Given the description of an element on the screen output the (x, y) to click on. 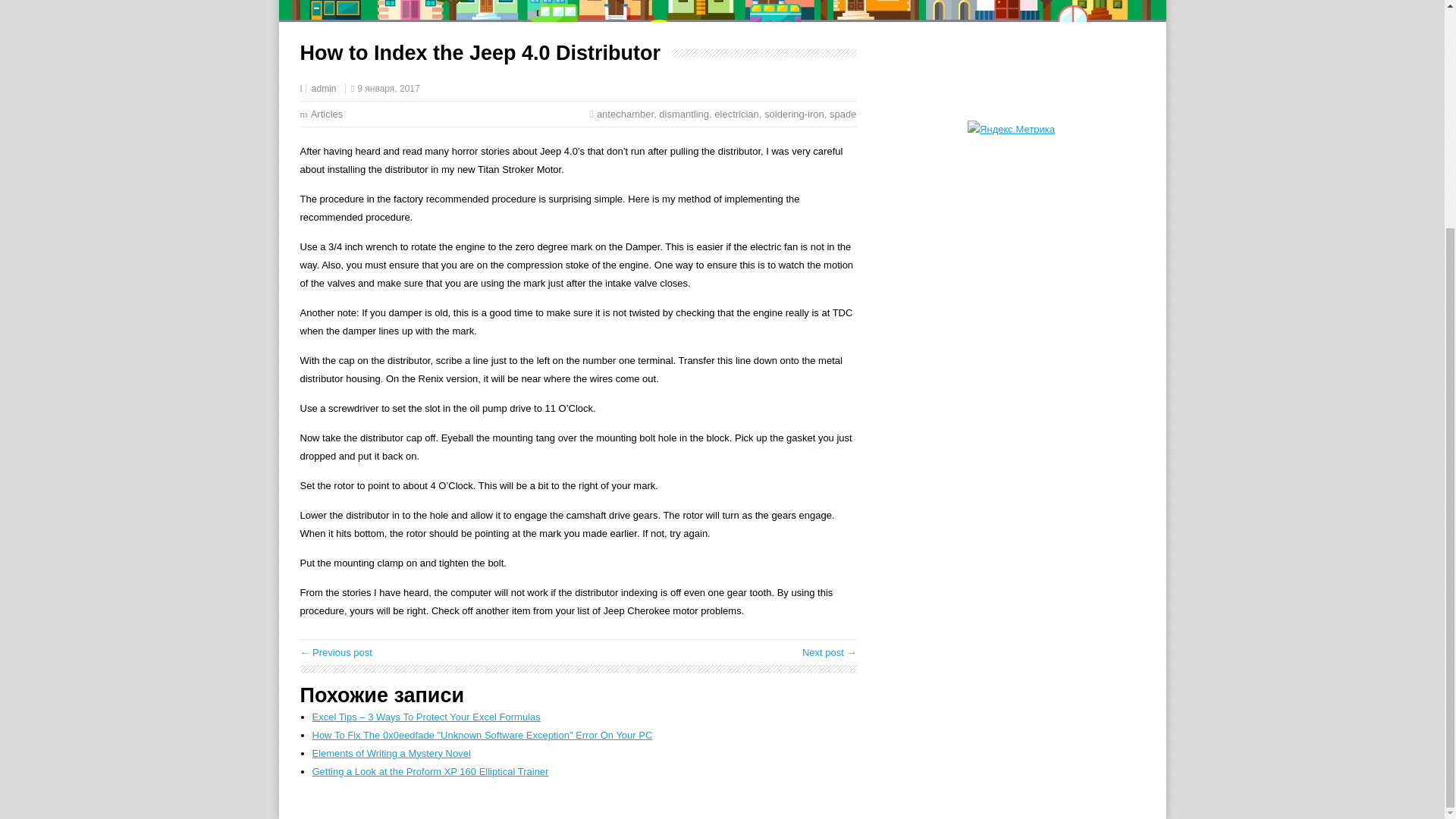
Know Your Future With Free Horoscope Readings Online (829, 652)
Articles (327, 113)
dismantling (684, 113)
antechamber (624, 113)
admin (323, 88)
soldering-iron (794, 113)
Elements of Writing a Mystery Novel (391, 753)
Getting a Look at the Proform XP 160 Elliptical Trainer (430, 771)
spade (842, 113)
electrician (736, 113)
